Given the description of an element on the screen output the (x, y) to click on. 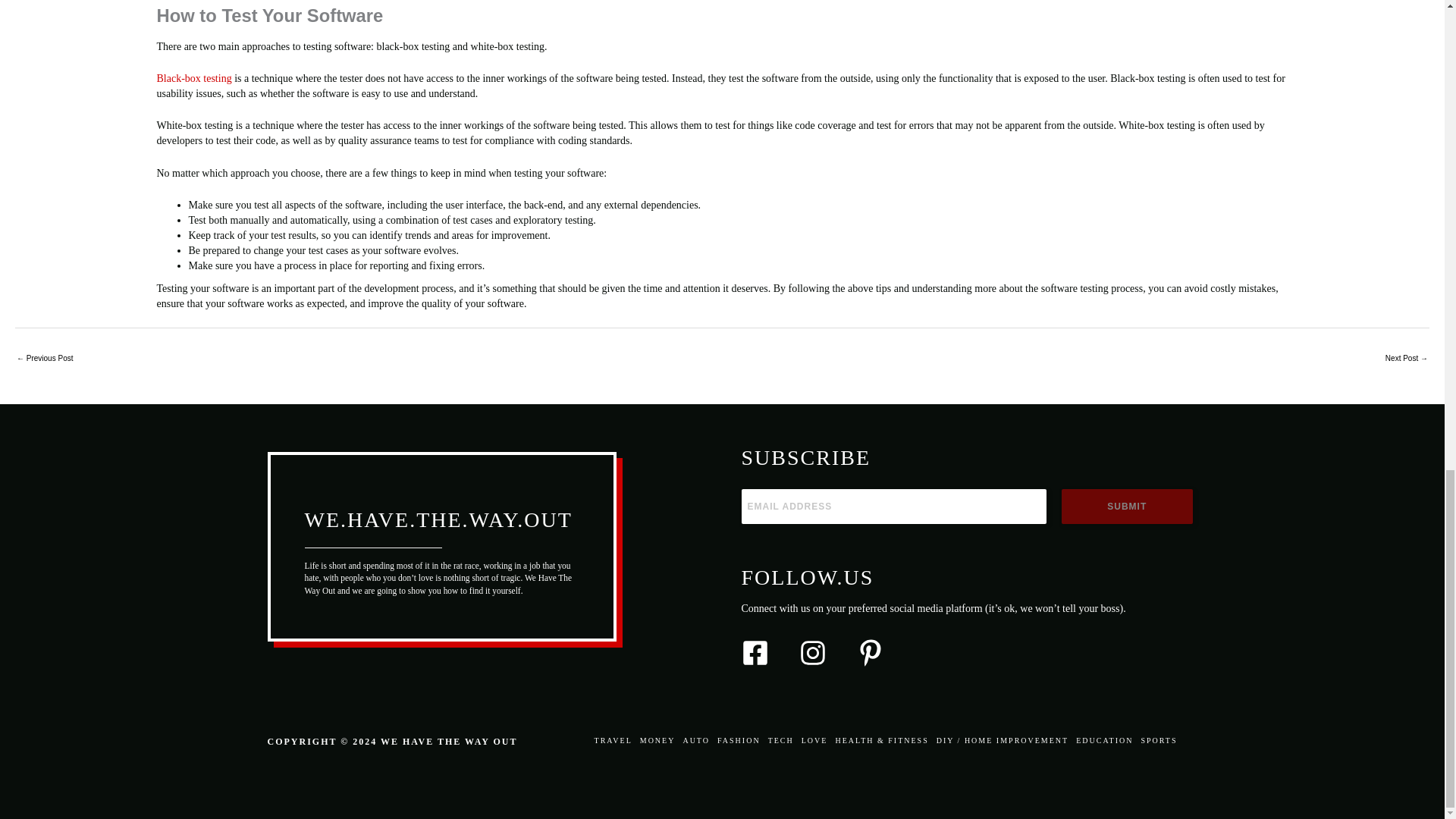
TRAVEL (615, 740)
MONEY (657, 740)
SPORTS (1156, 740)
TECH (780, 740)
AUTO (695, 740)
SUBMIT (1126, 506)
Black-box testing (193, 78)
Top Leading Clinical Outcomes (44, 359)
EDUCATION (1104, 740)
LOVE (814, 740)
FASHION (738, 740)
